Given the description of an element on the screen output the (x, y) to click on. 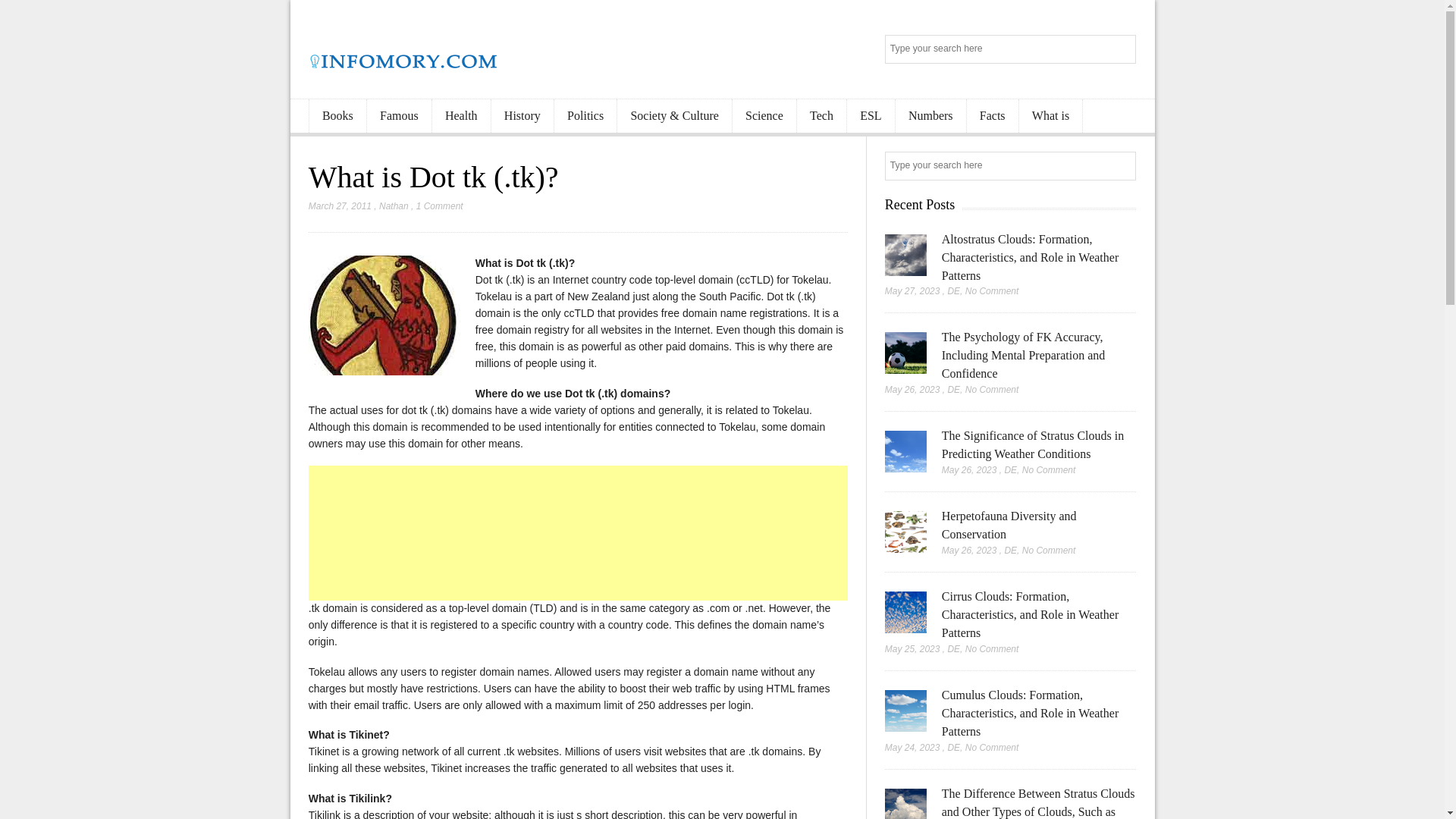
Posts by Nathan (393, 205)
Search (1123, 50)
No Comment (992, 290)
Science (764, 116)
What is? (384, 315)
Politics (584, 116)
DE (953, 389)
